Given the description of an element on the screen output the (x, y) to click on. 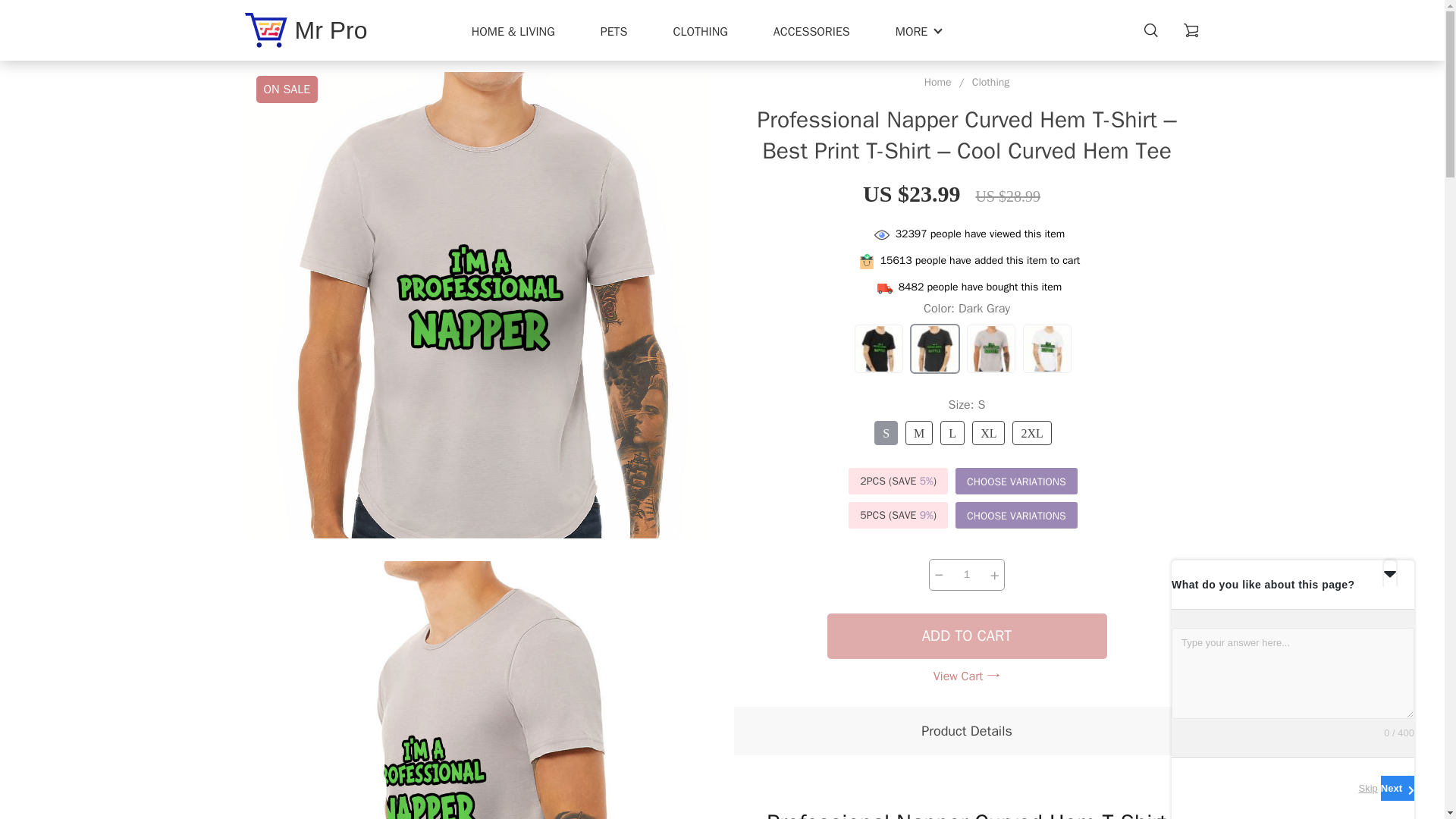
Dark Gray (935, 348)
ACCESSORIES (811, 31)
PETS (613, 31)
Heather Cool Gray (990, 348)
2363-98aeb1.jpeg (477, 690)
1 (966, 574)
CLOTHING (700, 31)
Mr Pro (305, 30)
White (1047, 348)
Black (878, 348)
